Given the description of an element on the screen output the (x, y) to click on. 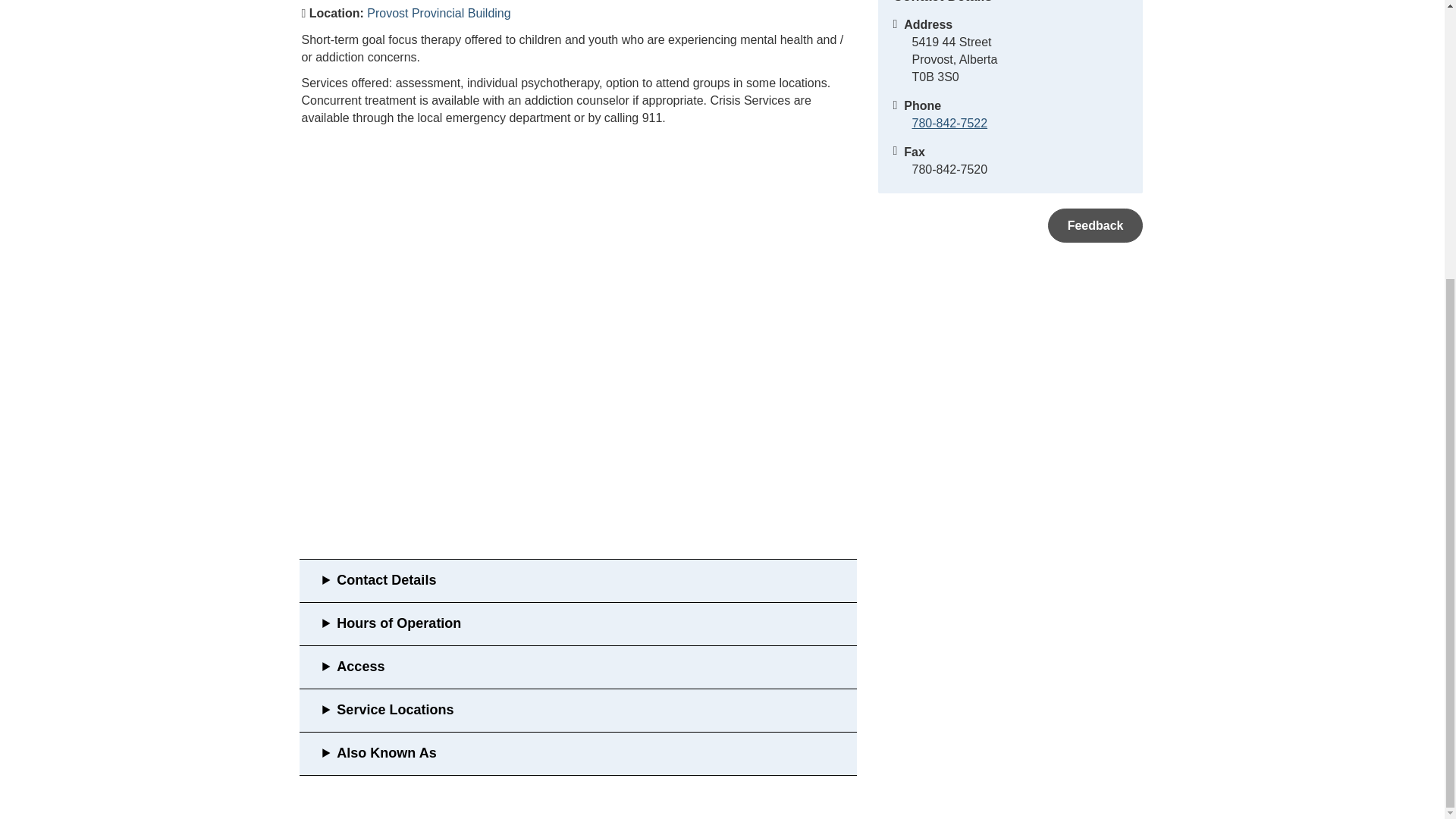
Provost Provincial Building (438, 12)
